Given the description of an element on the screen output the (x, y) to click on. 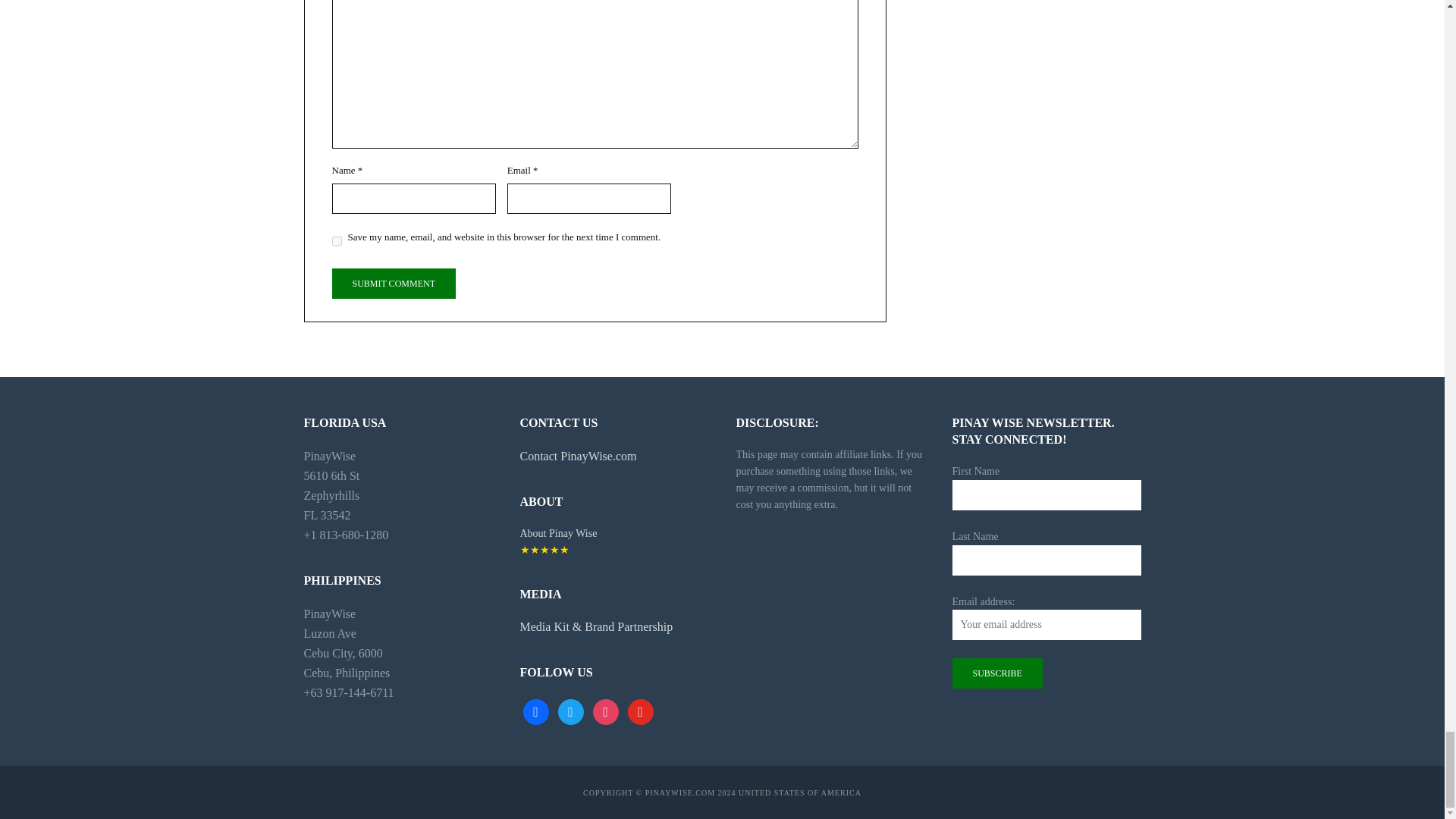
Submit Comment (393, 283)
Subscribe (997, 673)
